Given the description of an element on the screen output the (x, y) to click on. 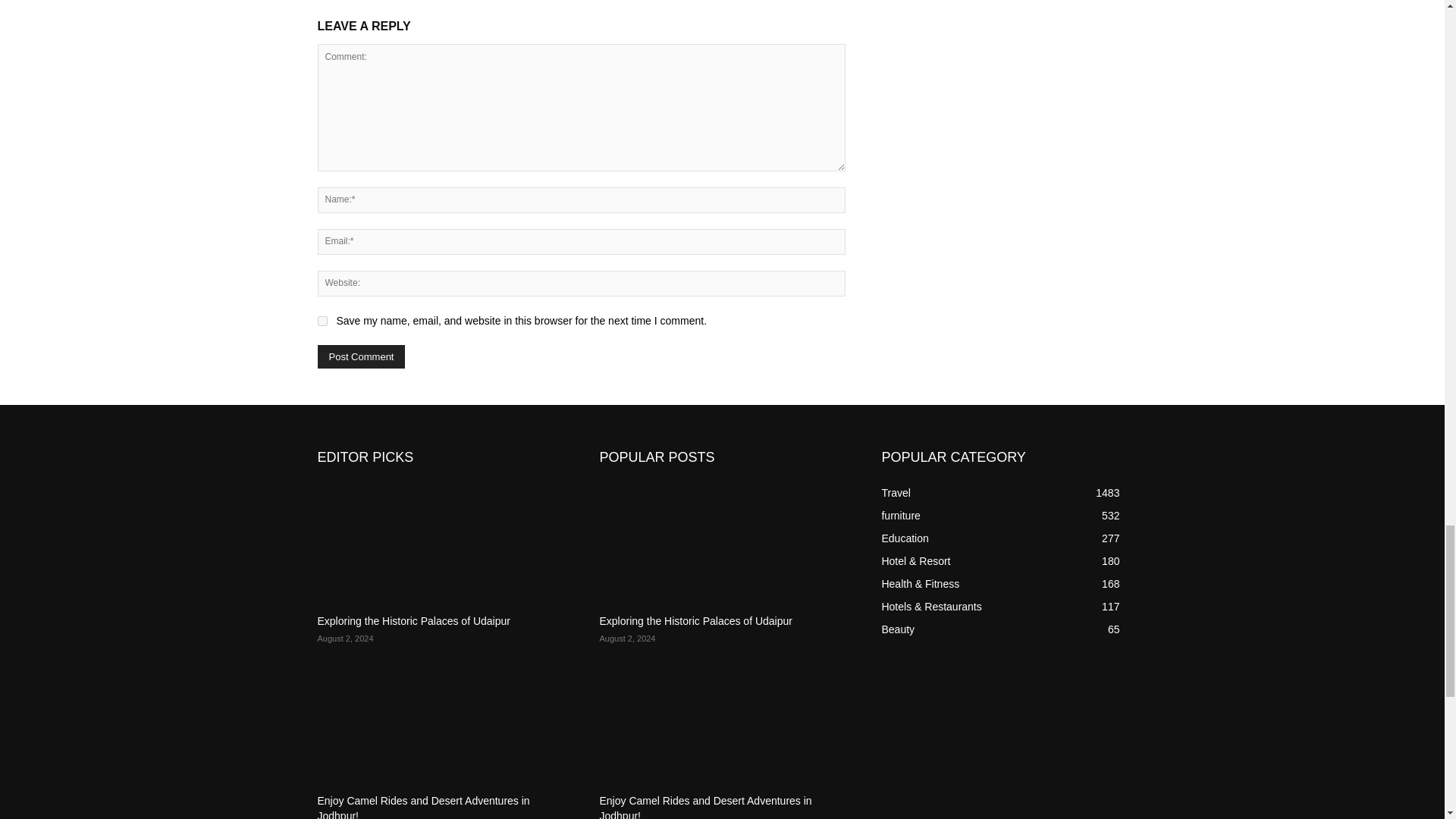
yes (321, 320)
Post Comment (360, 356)
